Given the description of an element on the screen output the (x, y) to click on. 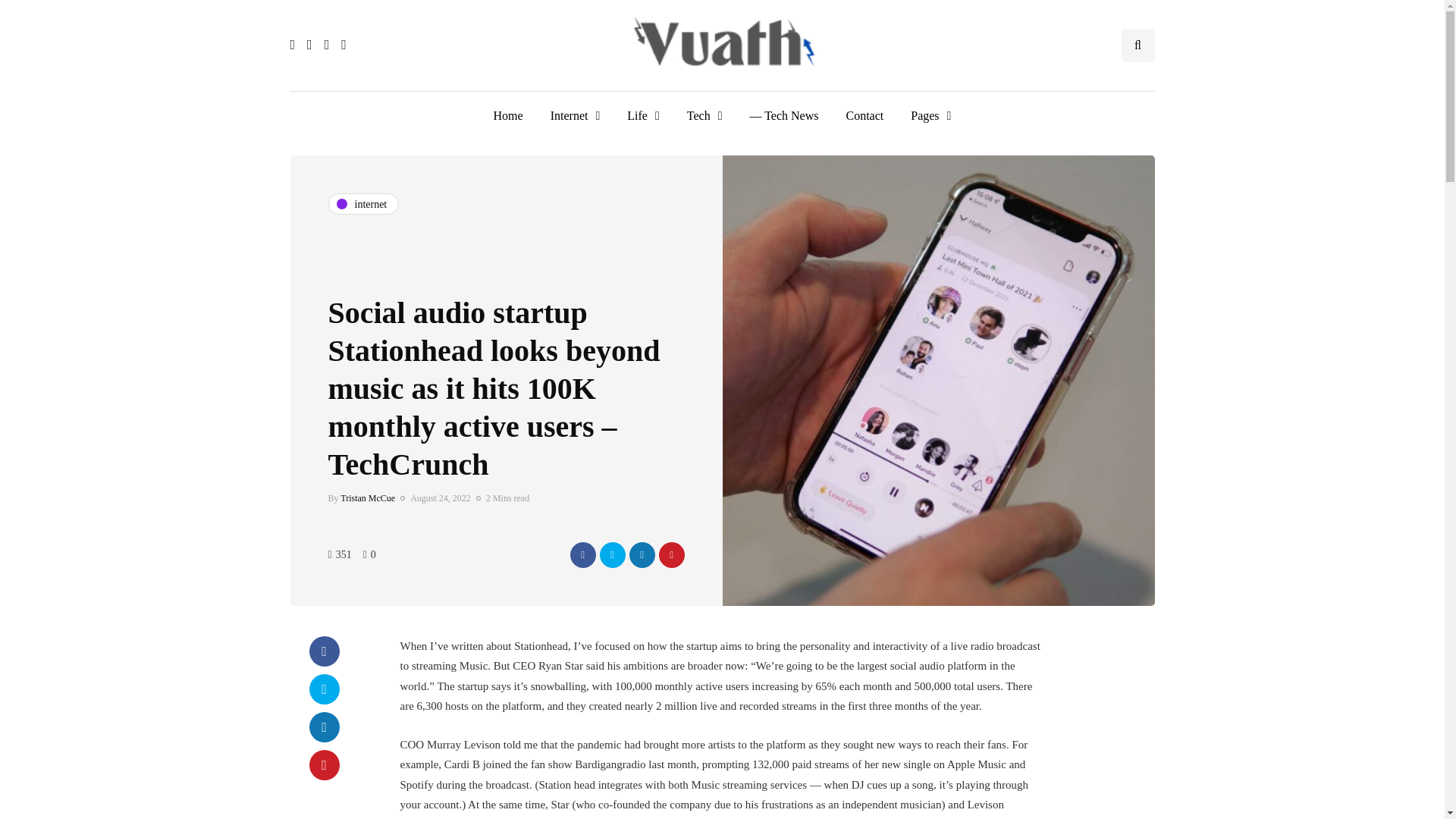
Share with LinkedIn (641, 554)
Tweet this (323, 689)
Posts by Tristan McCue (367, 498)
Tweet this (611, 554)
Tech (704, 115)
Pin this (671, 554)
Share with LinkedIn (323, 726)
Pages (929, 115)
Life (642, 115)
Pin this (323, 765)
Share with Facebook (323, 651)
Share with Facebook (582, 554)
Contact (863, 115)
Home (508, 115)
Internet (575, 115)
